Given the description of an element on the screen output the (x, y) to click on. 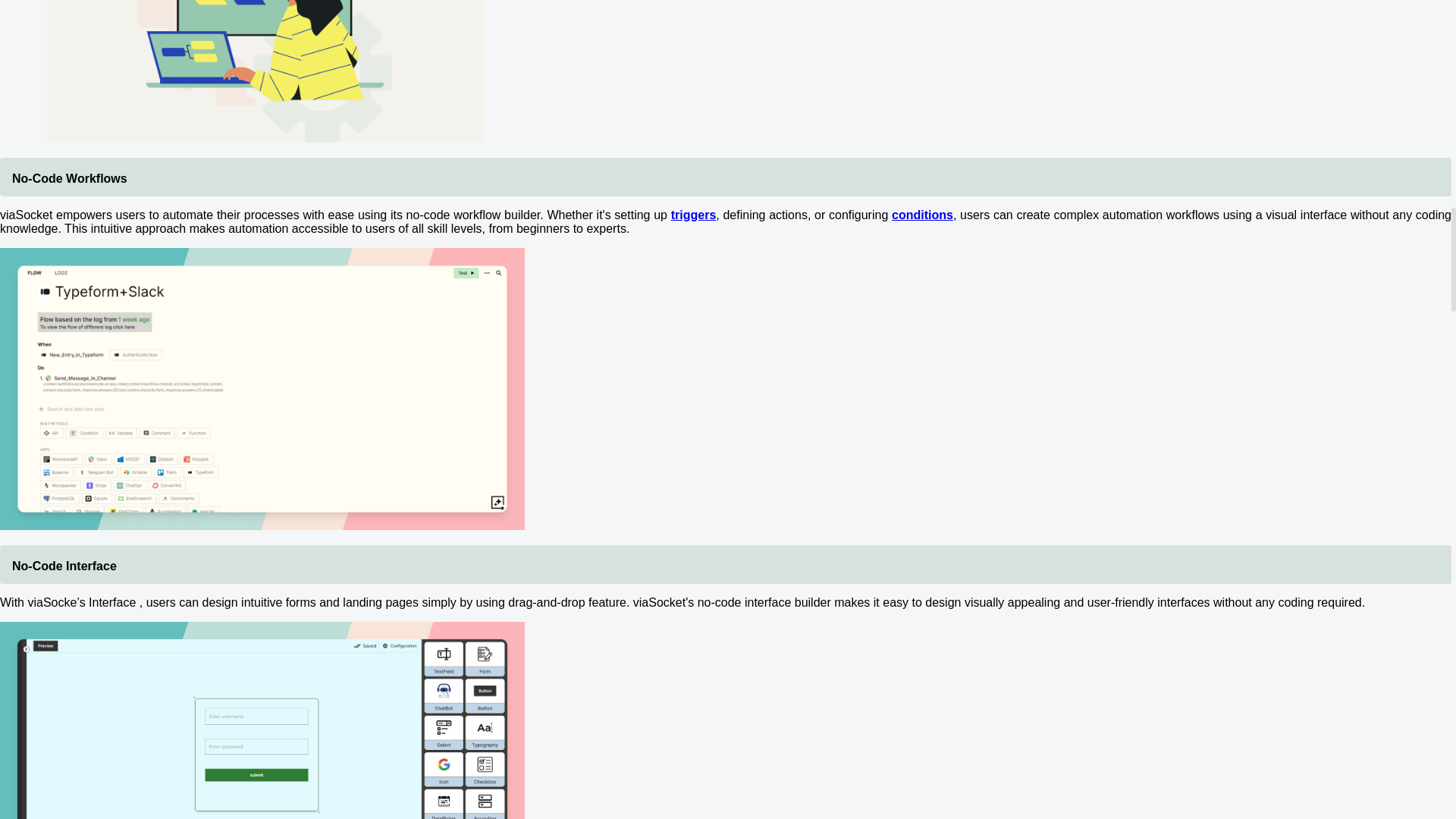
conditions (922, 214)
triggers (693, 214)
